Given the description of an element on the screen output the (x, y) to click on. 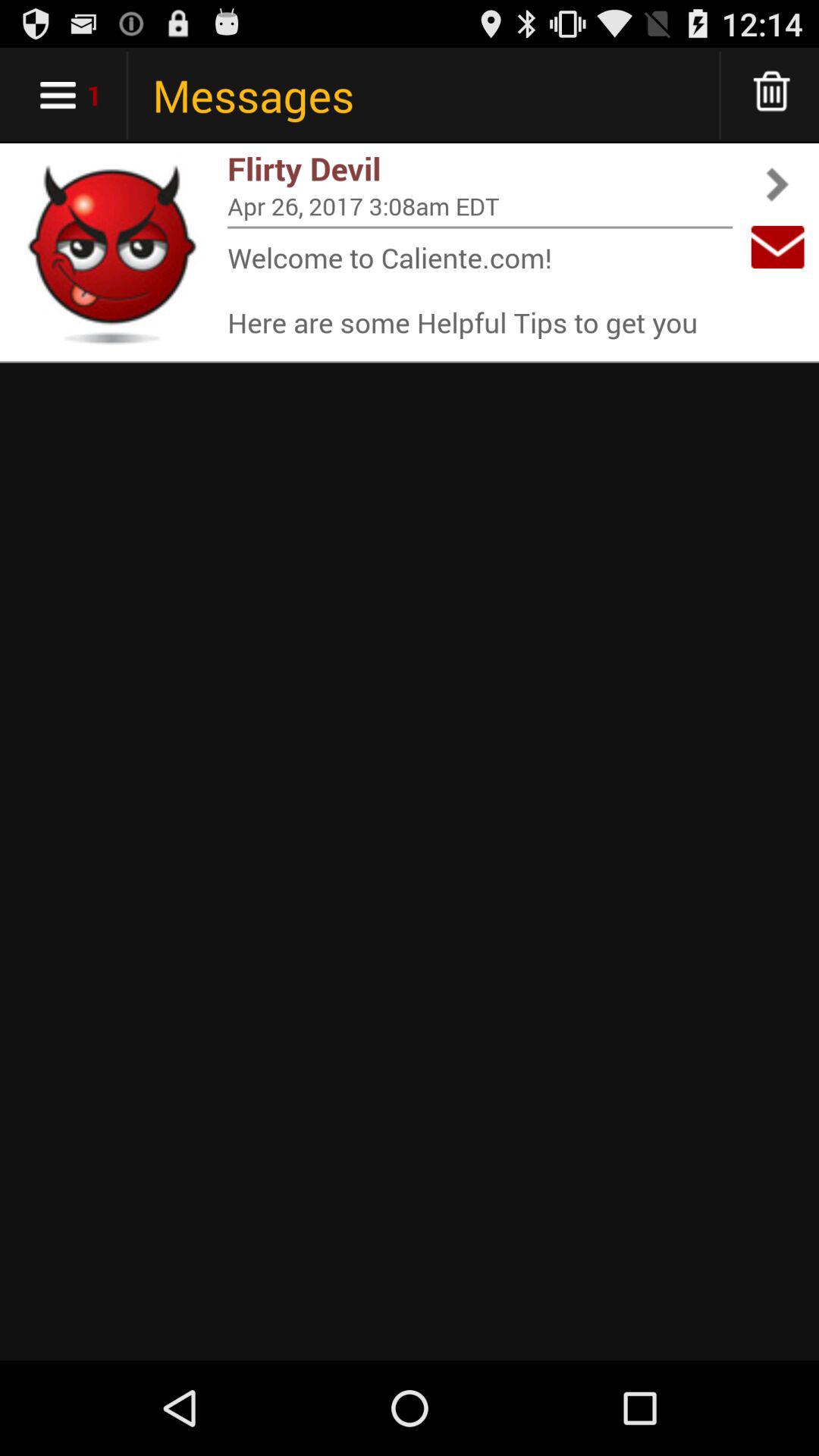
choose the welcome to caliente item (479, 289)
